Given the description of an element on the screen output the (x, y) to click on. 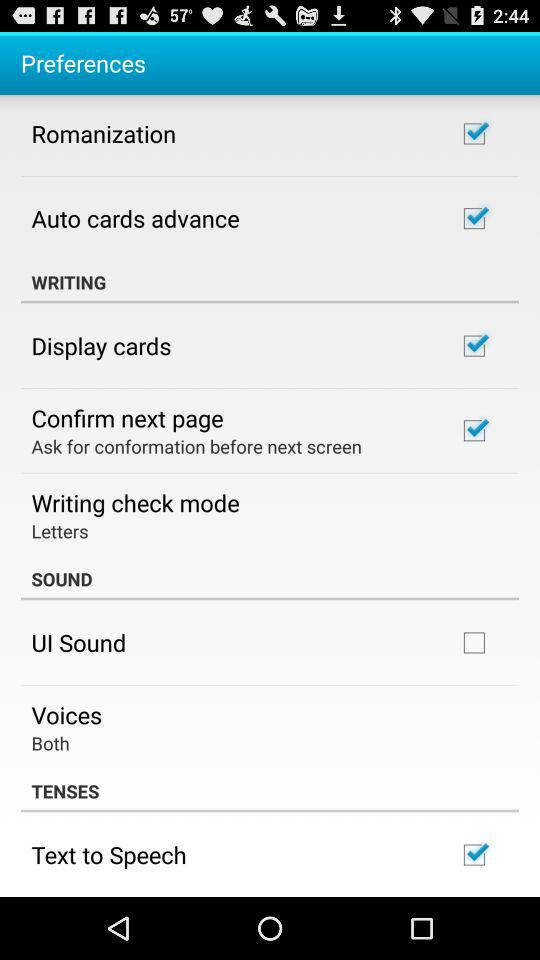
choose app below the writing check mode icon (59, 530)
